Given the description of an element on the screen output the (x, y) to click on. 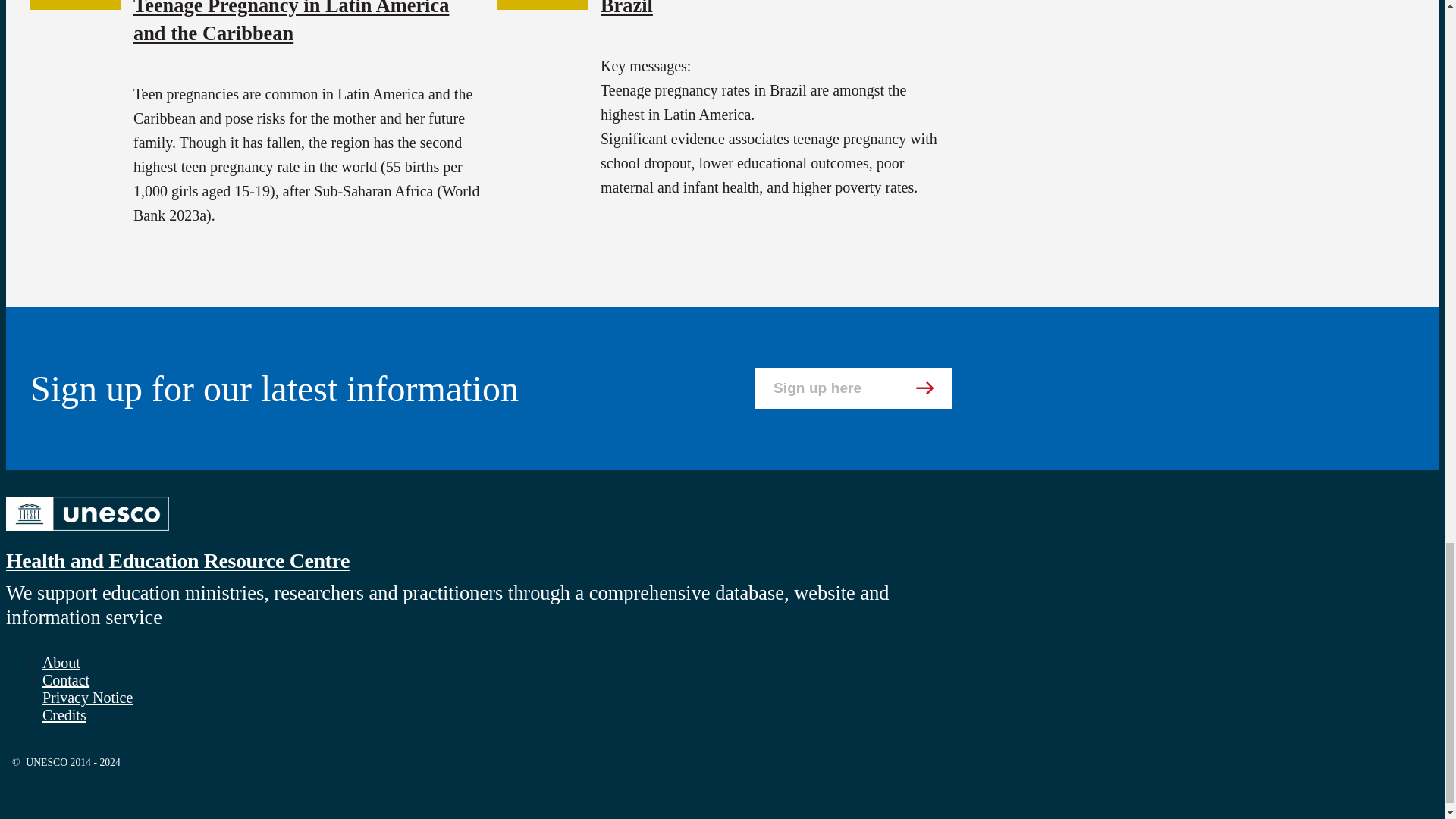
Home (177, 560)
Home (86, 532)
